Given the description of an element on the screen output the (x, y) to click on. 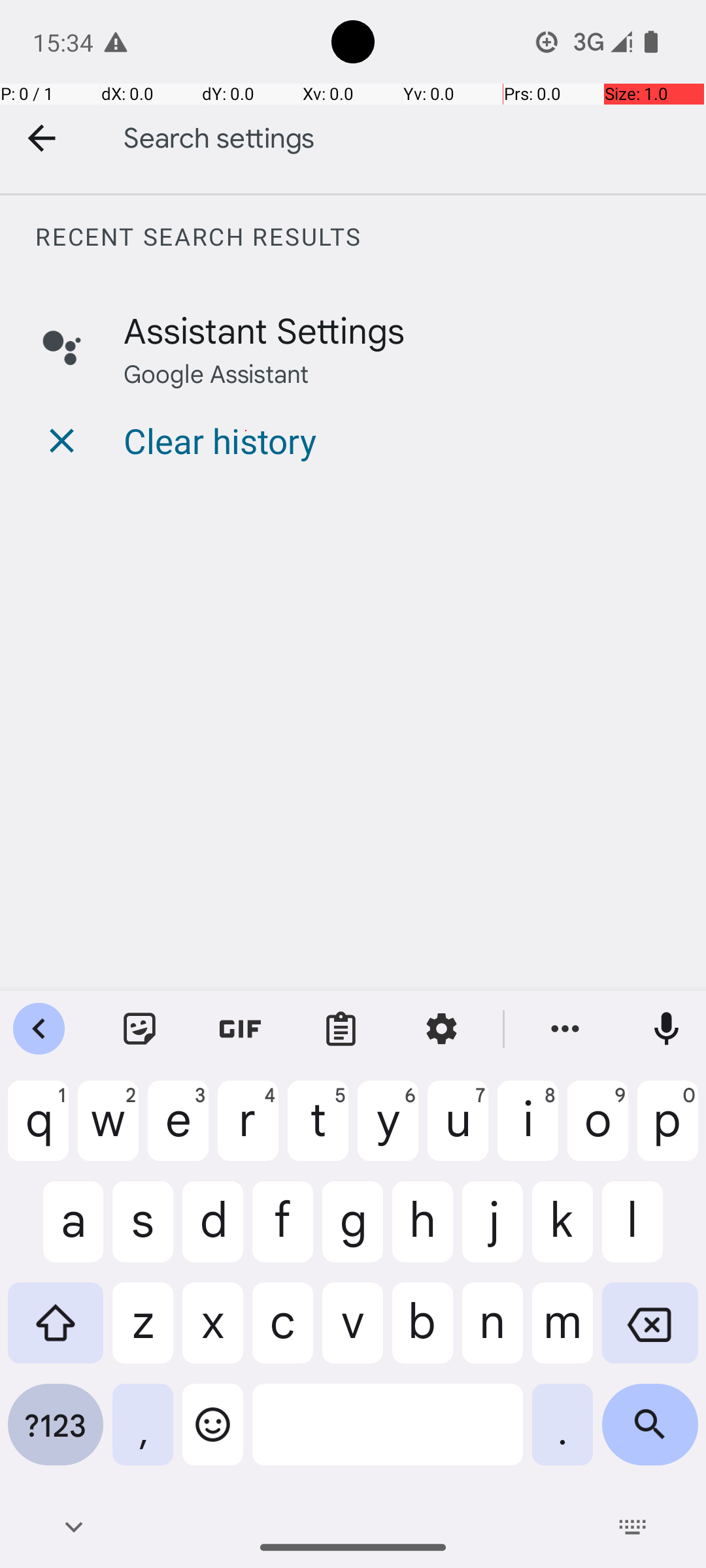
RECENT SEARCH RESULTS Element type: android.widget.TextView (370, 236)
Assistant Settings Element type: android.widget.TextView (263, 329)
Google Assistant Element type: android.widget.TextView (215, 372)
Clear history Element type: android.widget.TextView (219, 440)
